Given the description of an element on the screen output the (x, y) to click on. 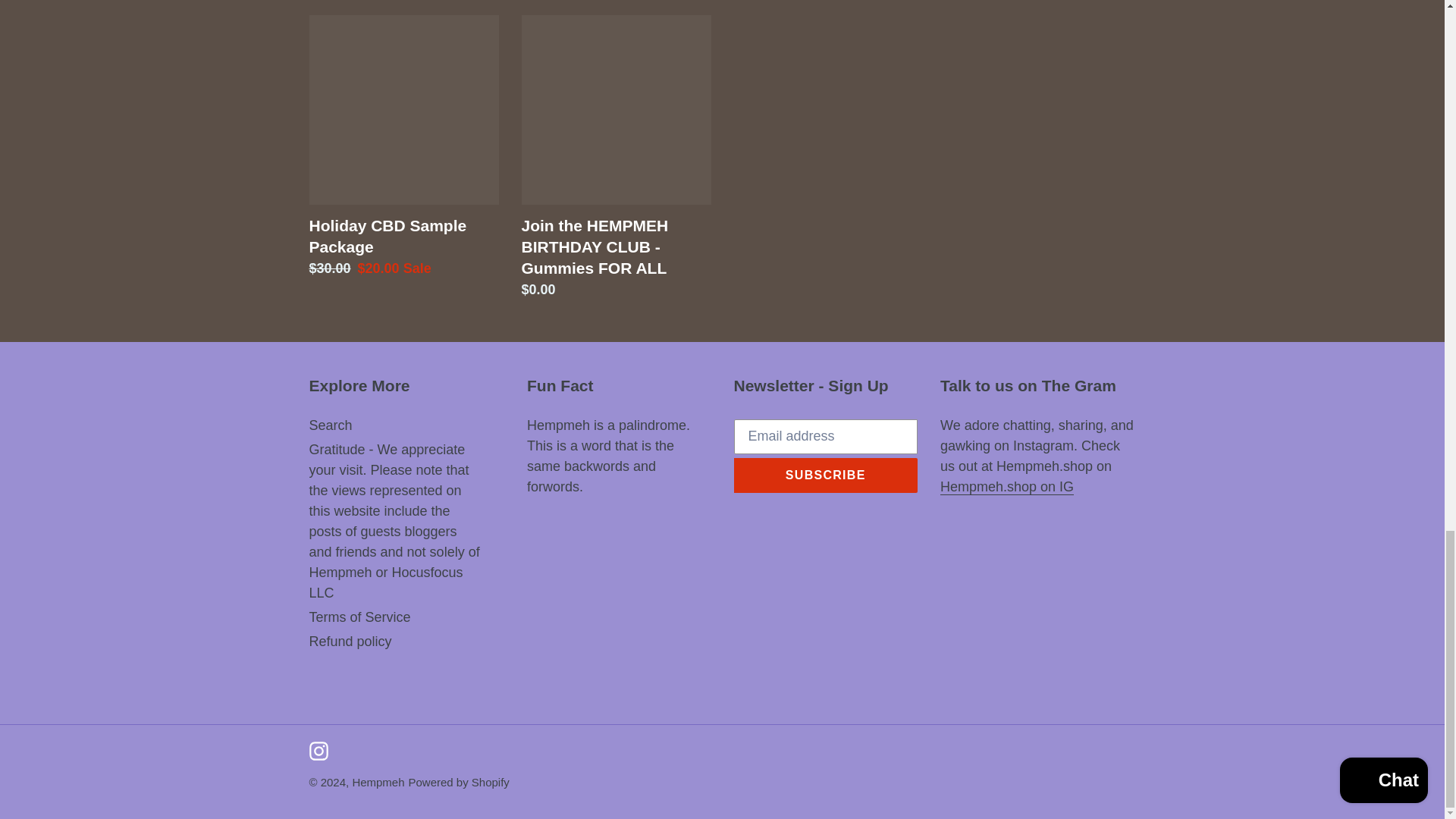
Search (330, 425)
Powered by Shopify (459, 781)
SUBSCRIBE (825, 475)
Instagram (318, 750)
Refund policy (349, 641)
Hempmeh.shop on IG (1007, 487)
Hempmeh (378, 781)
Terms of Service (359, 616)
